Given the description of an element on the screen output the (x, y) to click on. 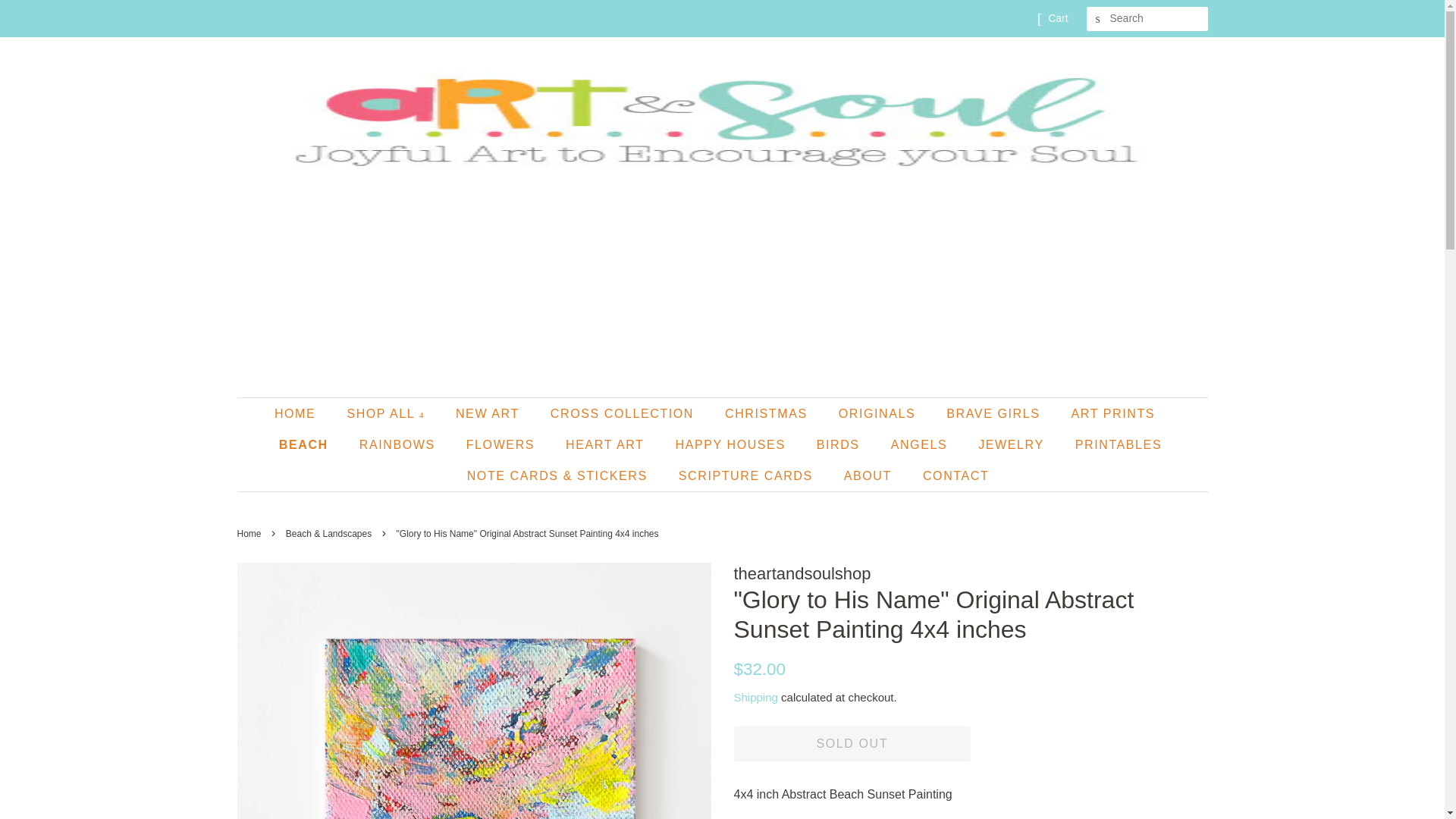
Cart (1057, 18)
HOME (302, 413)
SEARCH (1097, 18)
SHOP ALL (386, 413)
Back to the frontpage (249, 533)
